Given the description of an element on the screen output the (x, y) to click on. 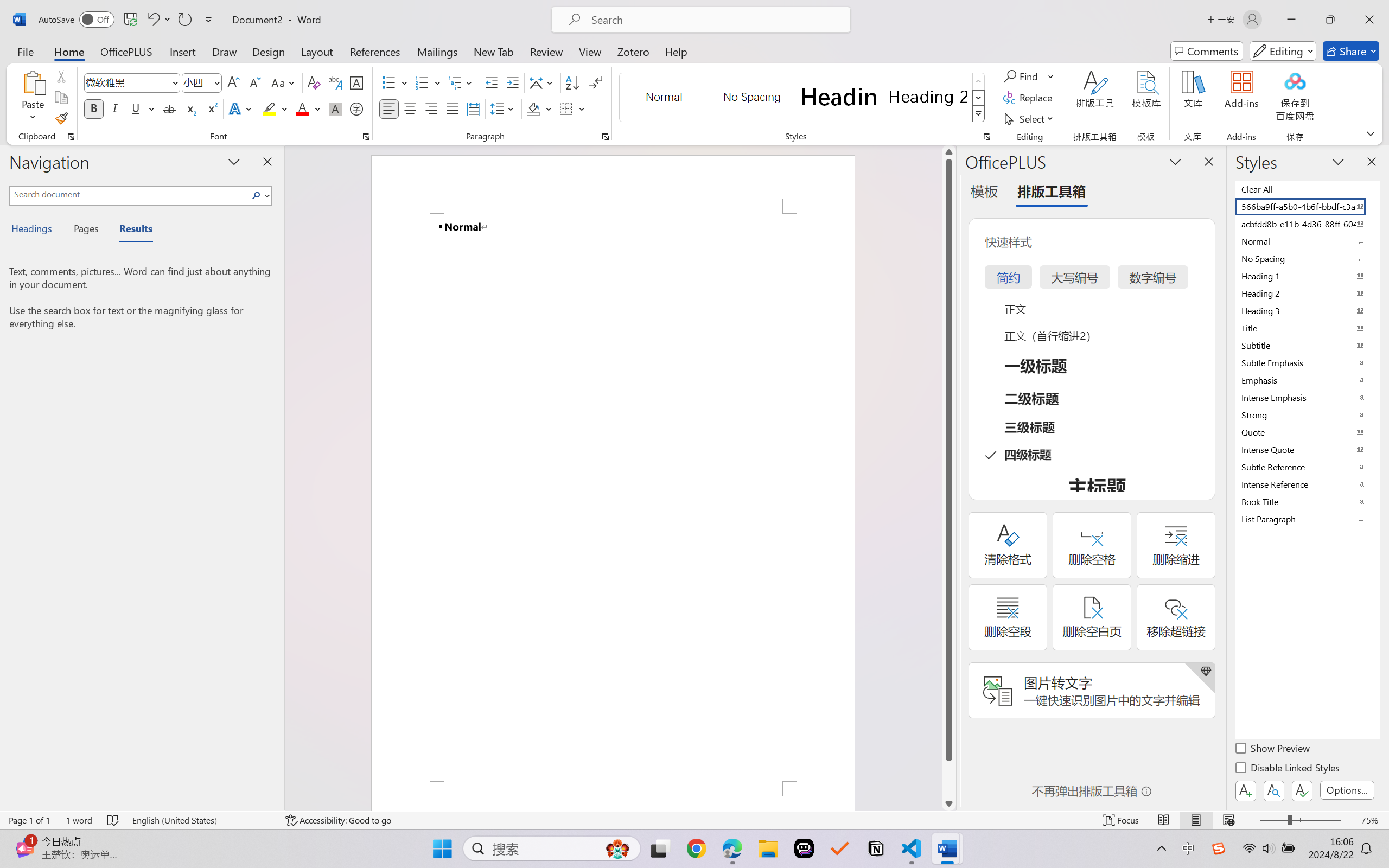
Styles (978, 113)
Microsoft search (715, 19)
Strong (1306, 414)
References (375, 51)
Read Mode (1163, 819)
Repeat Doc Close (184, 19)
Line and Paragraph Spacing (503, 108)
Line down (948, 803)
Font Color (308, 108)
Draw (224, 51)
Page 1 content (612, 497)
Font (126, 82)
